Given the description of an element on the screen output the (x, y) to click on. 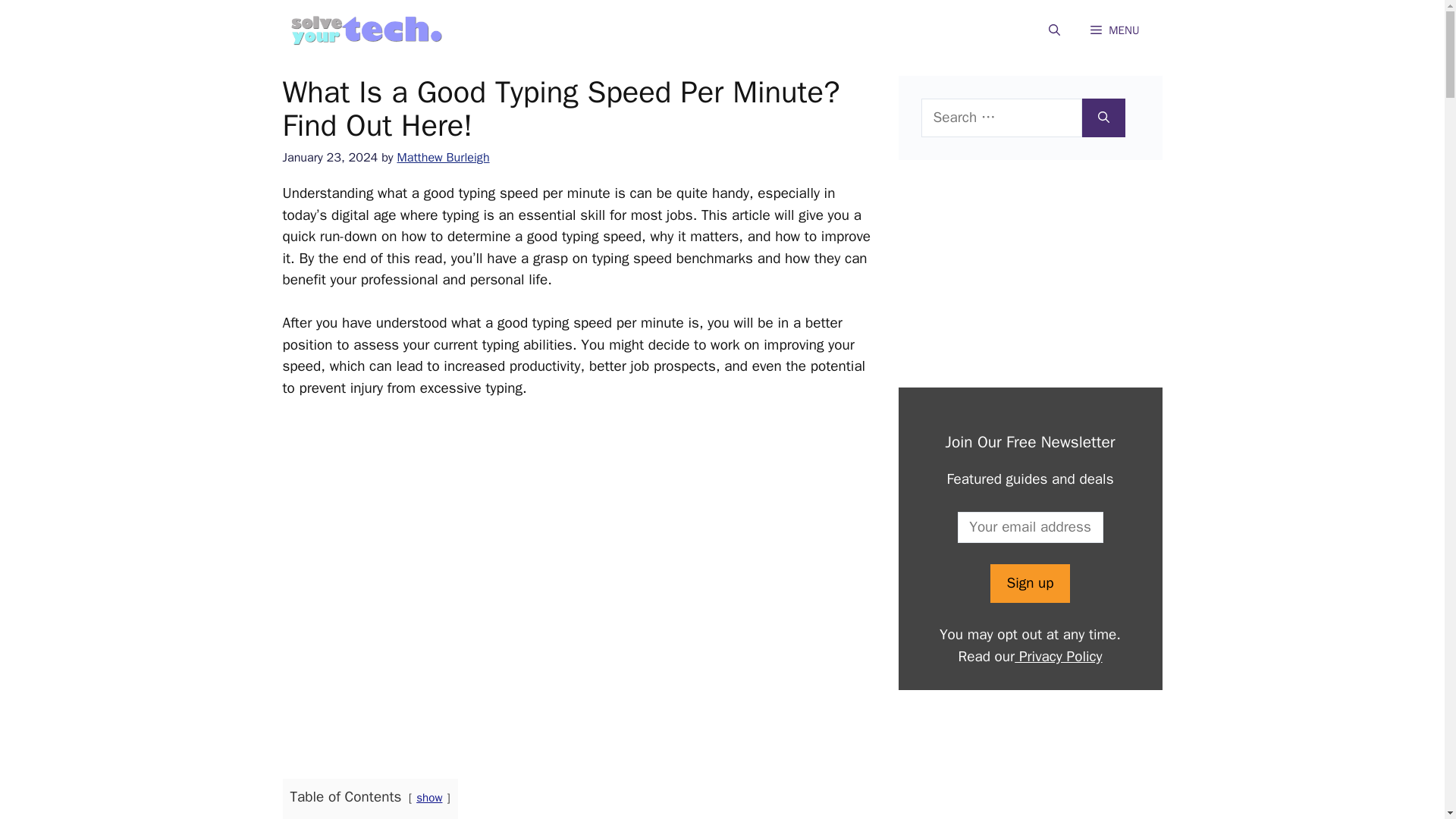
Solve Your Tech (365, 30)
show (429, 797)
View all posts by Matthew Burleigh (442, 157)
Matthew Burleigh (442, 157)
Sign up (1029, 583)
MENU (1114, 30)
